Given the description of an element on the screen output the (x, y) to click on. 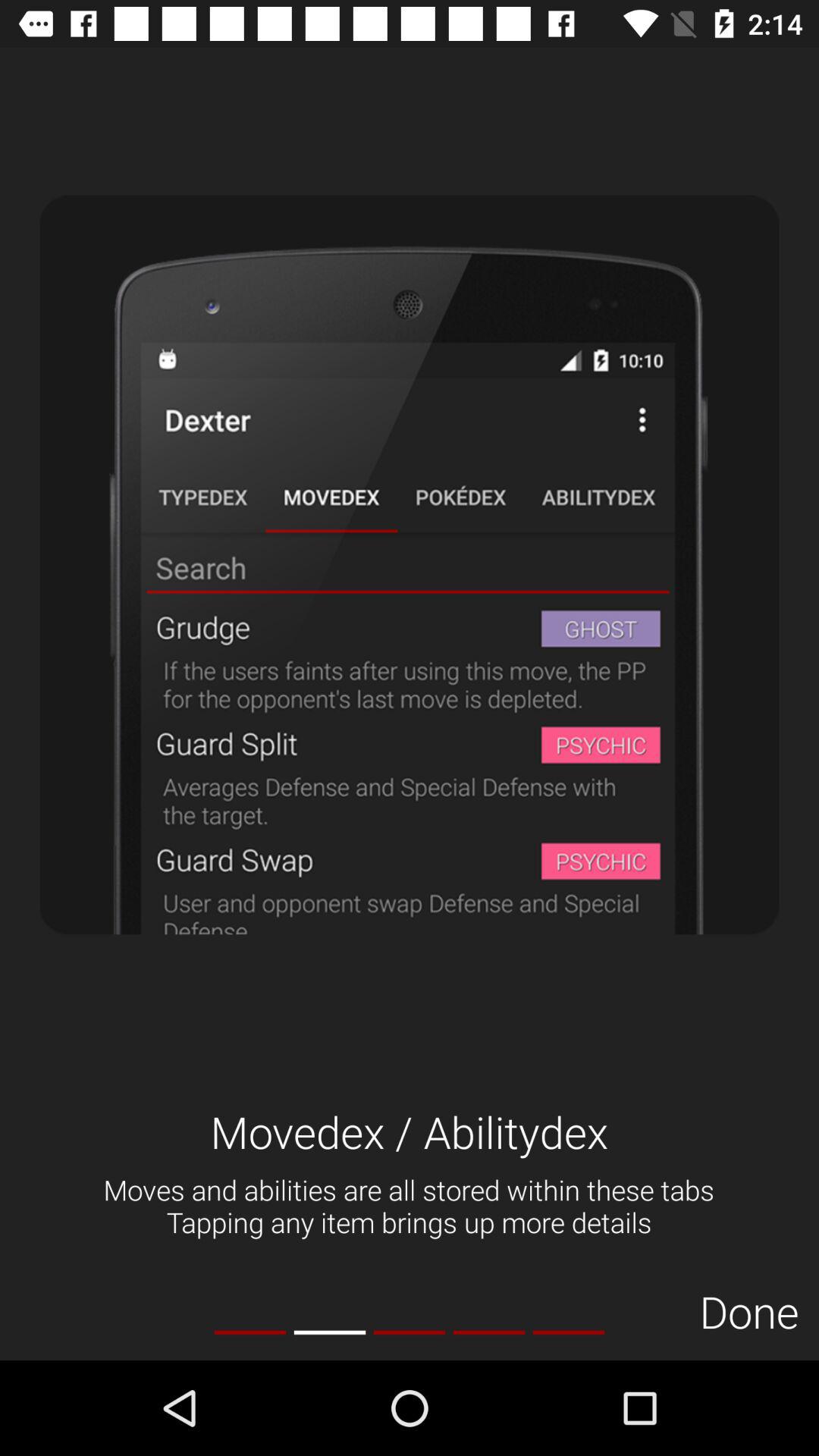
choose the item below the moves and abilities item (409, 1332)
